Given the description of an element on the screen output the (x, y) to click on. 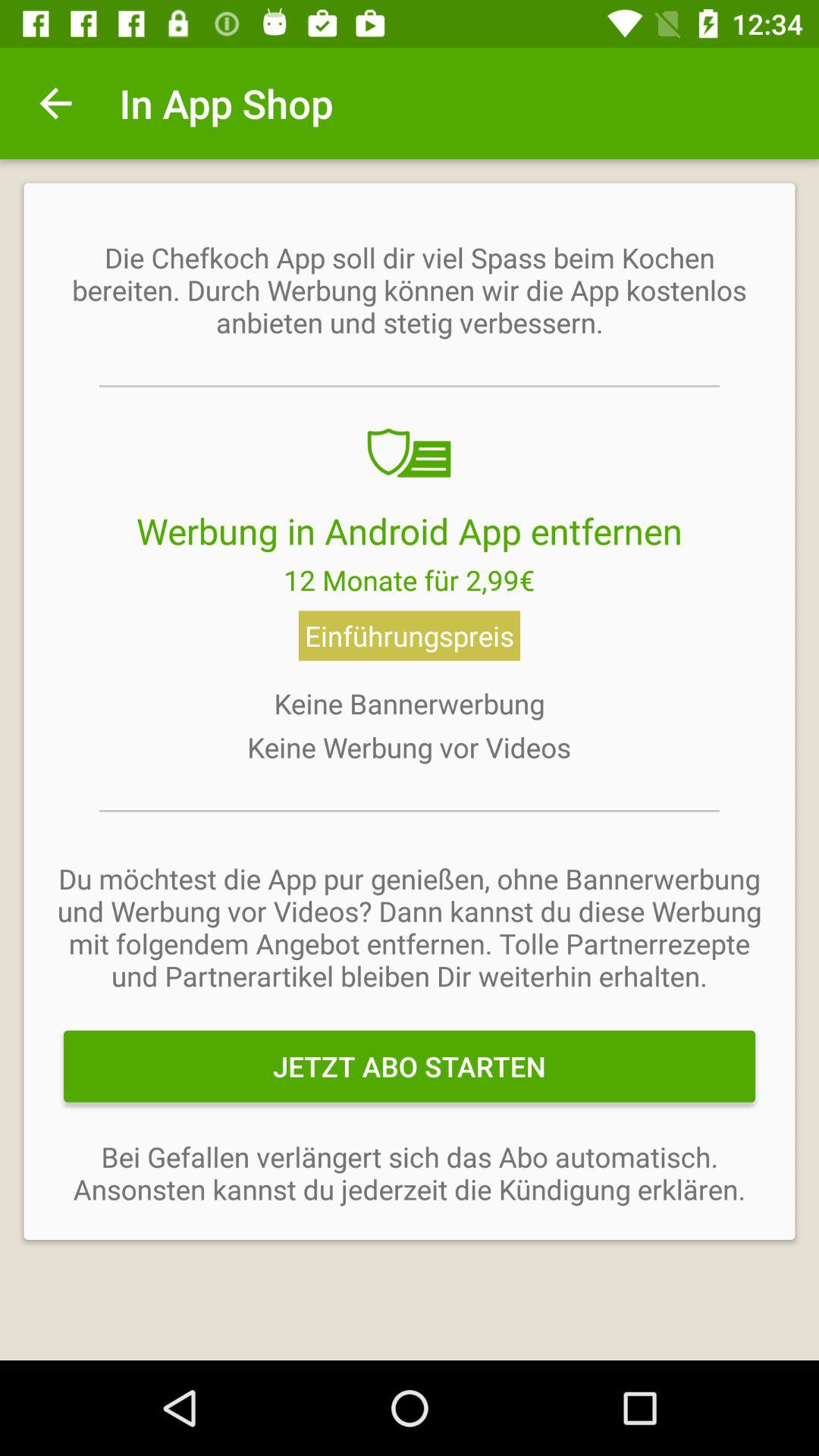
turn on icon next to the in app shop item (55, 103)
